Given the description of an element on the screen output the (x, y) to click on. 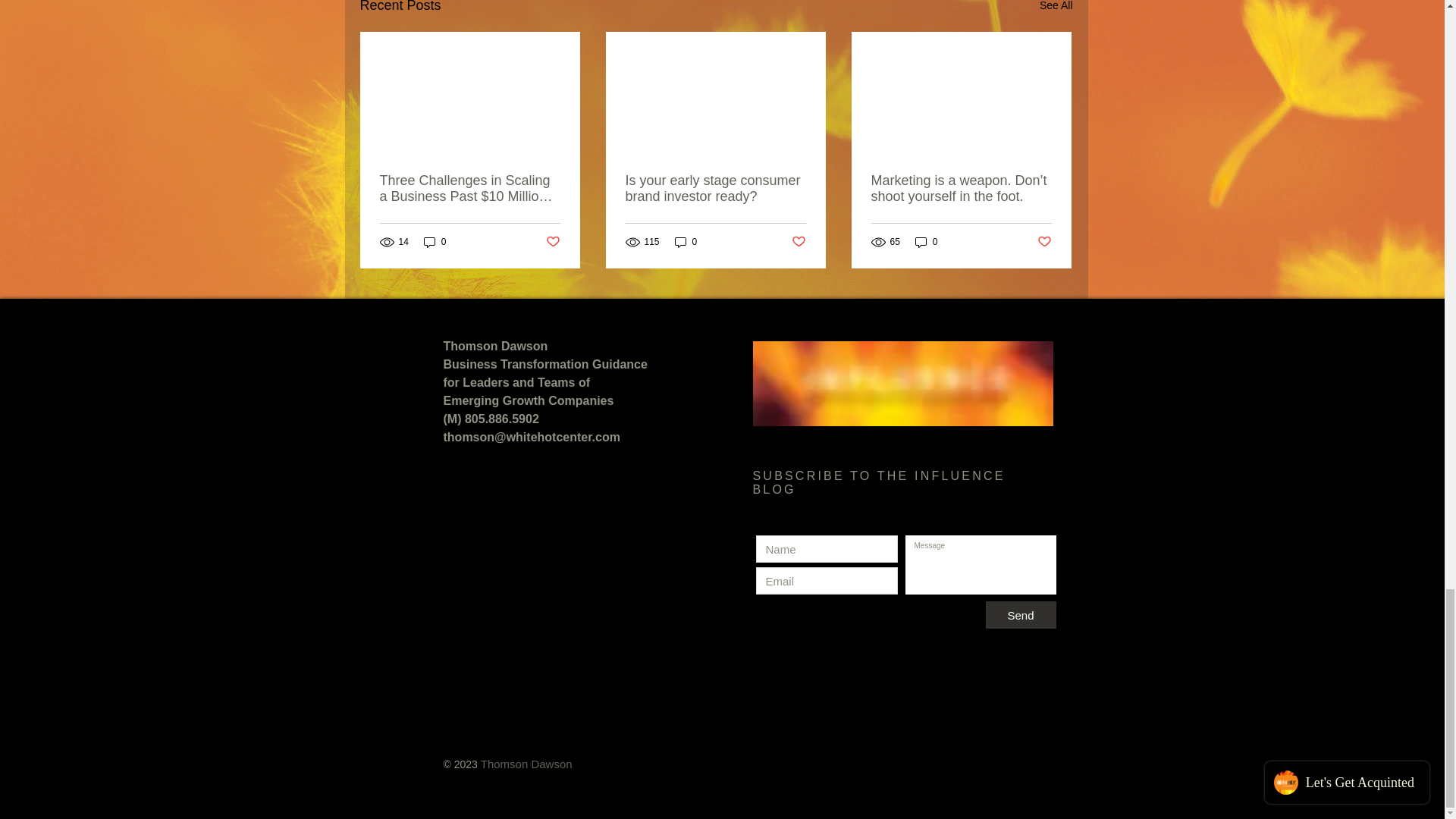
Post not marked as liked (1043, 242)
Post not marked as liked (553, 242)
Send (1021, 614)
0 (926, 242)
Is your early stage consumer brand investor ready? (714, 188)
0 (685, 242)
See All (1056, 8)
Post not marked as liked (799, 242)
0 (435, 242)
